Given the description of an element on the screen output the (x, y) to click on. 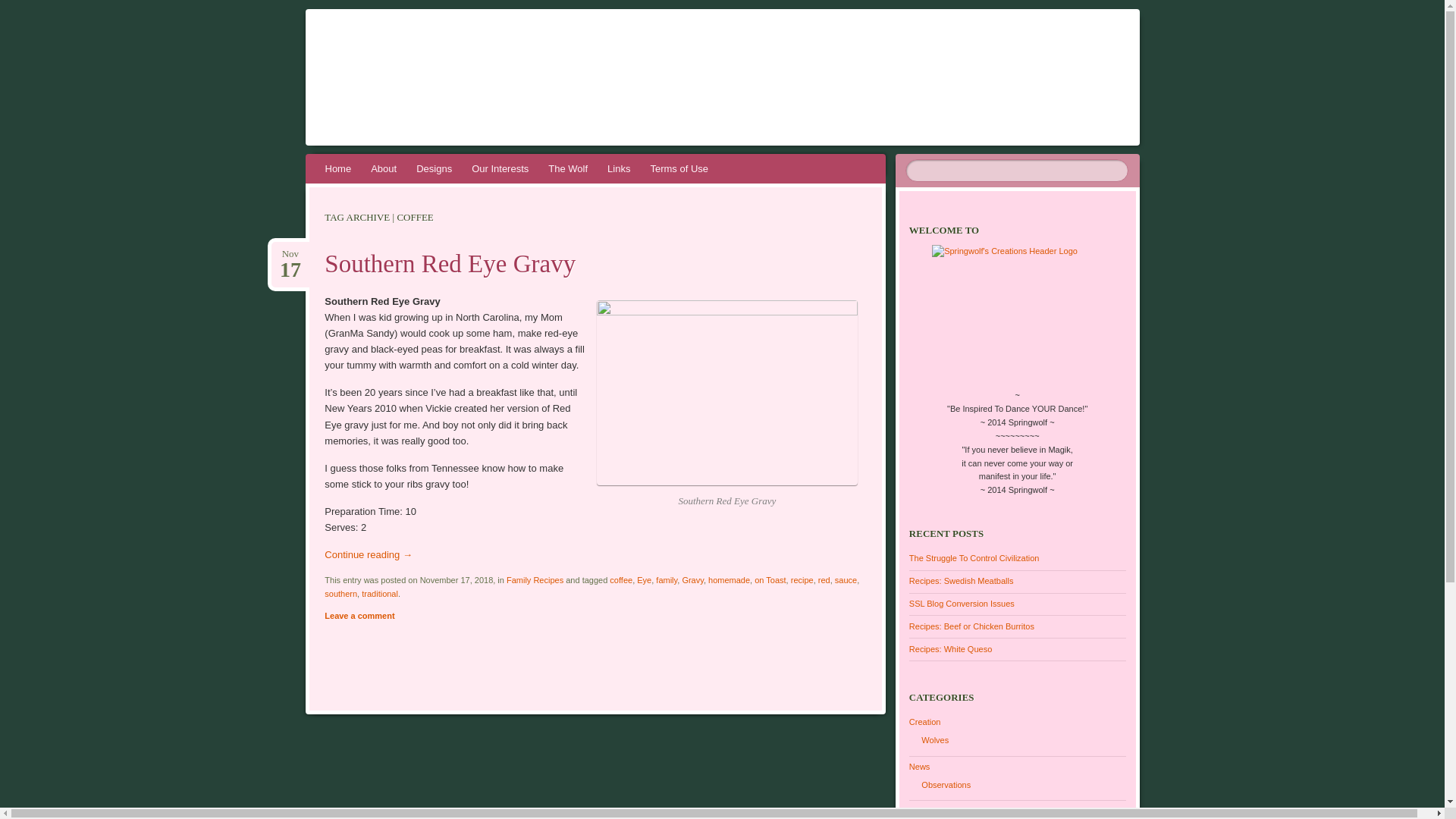
Springwolf's Creations (565, 60)
The Struggle To Control Civilization (973, 557)
southern (340, 593)
homemade (728, 579)
November 17, 2018 (289, 254)
coffee (620, 579)
Search (21, 7)
Designs (433, 168)
recipe (801, 579)
family (666, 579)
